Given the description of an element on the screen output the (x, y) to click on. 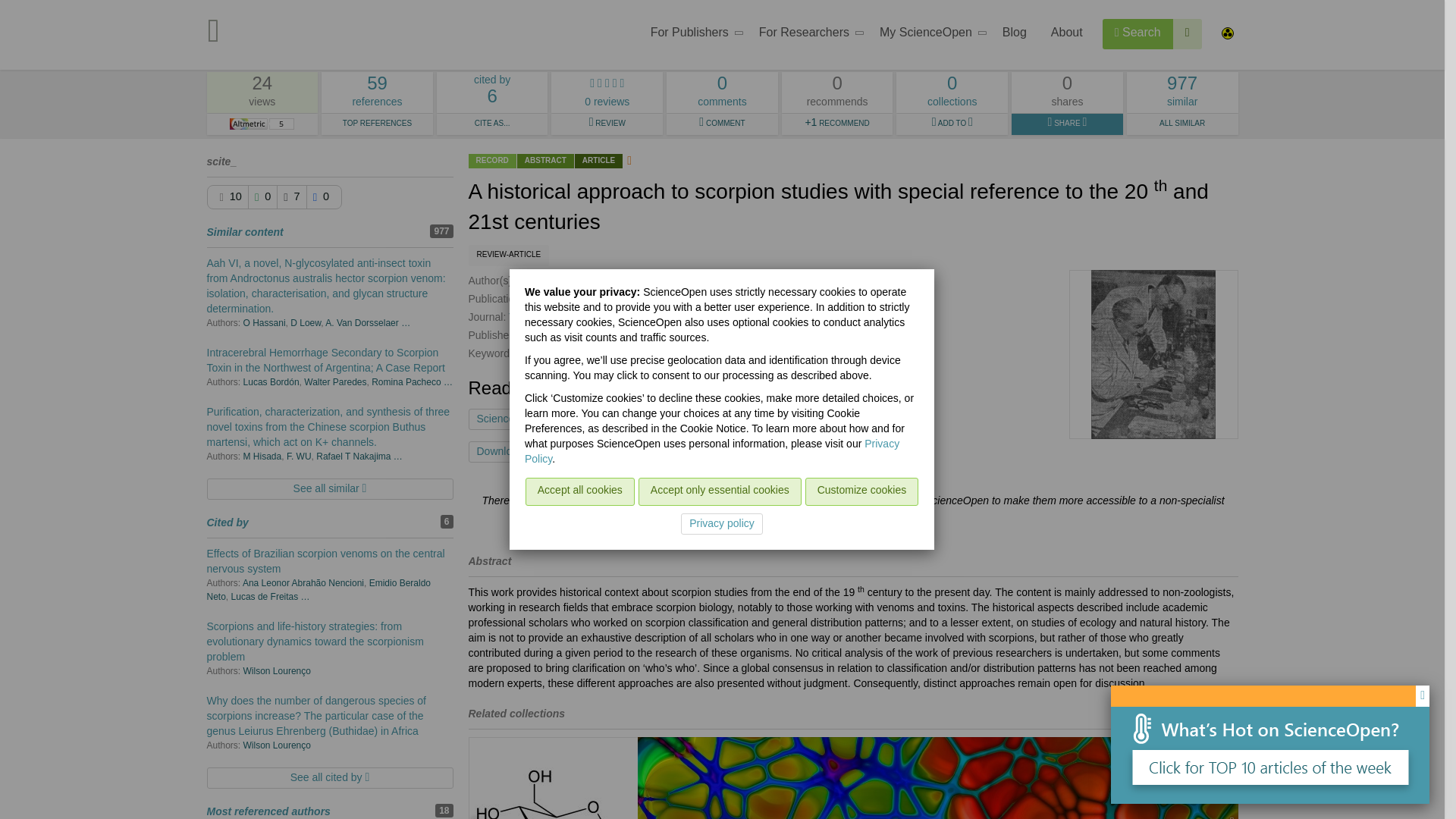
My ScienceOpen (376, 92)
For Publishers (928, 34)
Advanced search (692, 34)
For Researchers (1187, 33)
Search (806, 34)
Bookmark (1137, 33)
